Given the description of an element on the screen output the (x, y) to click on. 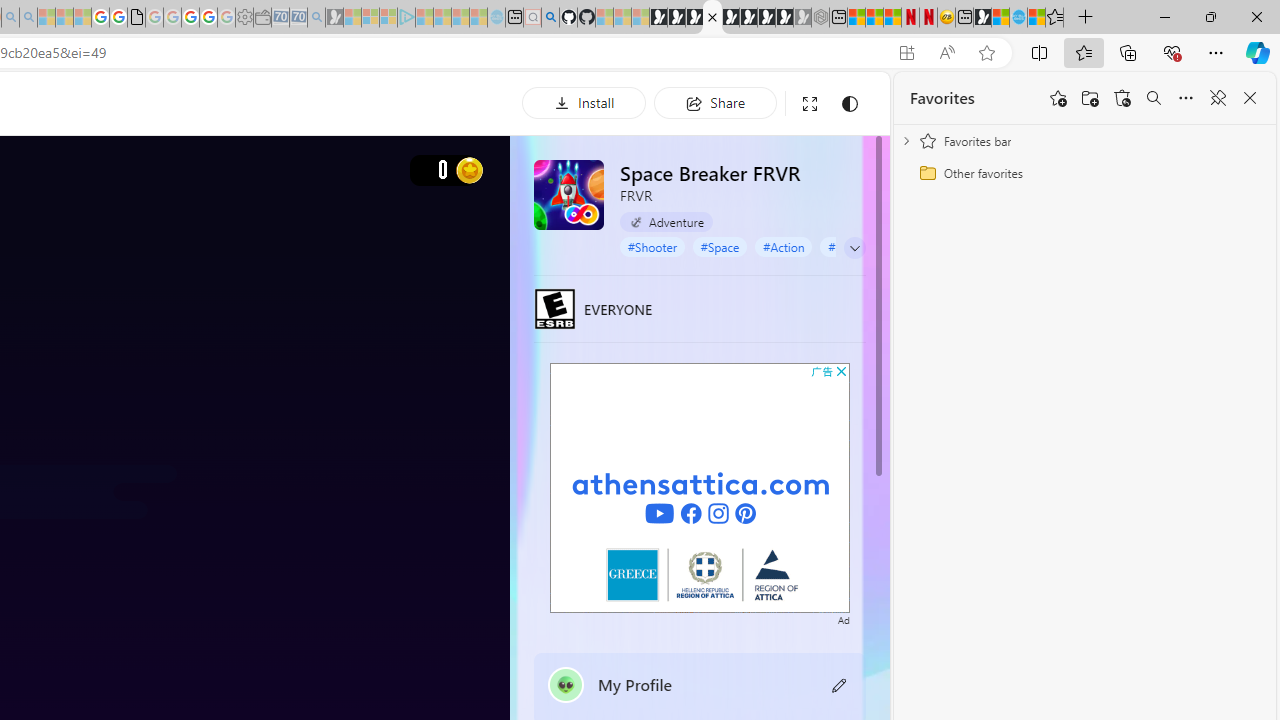
Utah sues federal government - Search - Sleeping (28, 17)
Add this page to favorites (1058, 98)
github - Search (550, 17)
Bing Real Estate - Home sales and rental listings - Sleeping (316, 17)
Class: expand-arrow neutral (854, 247)
App available. Install Space Breaker FRVR (906, 53)
